Given the description of an element on the screen output the (x, y) to click on. 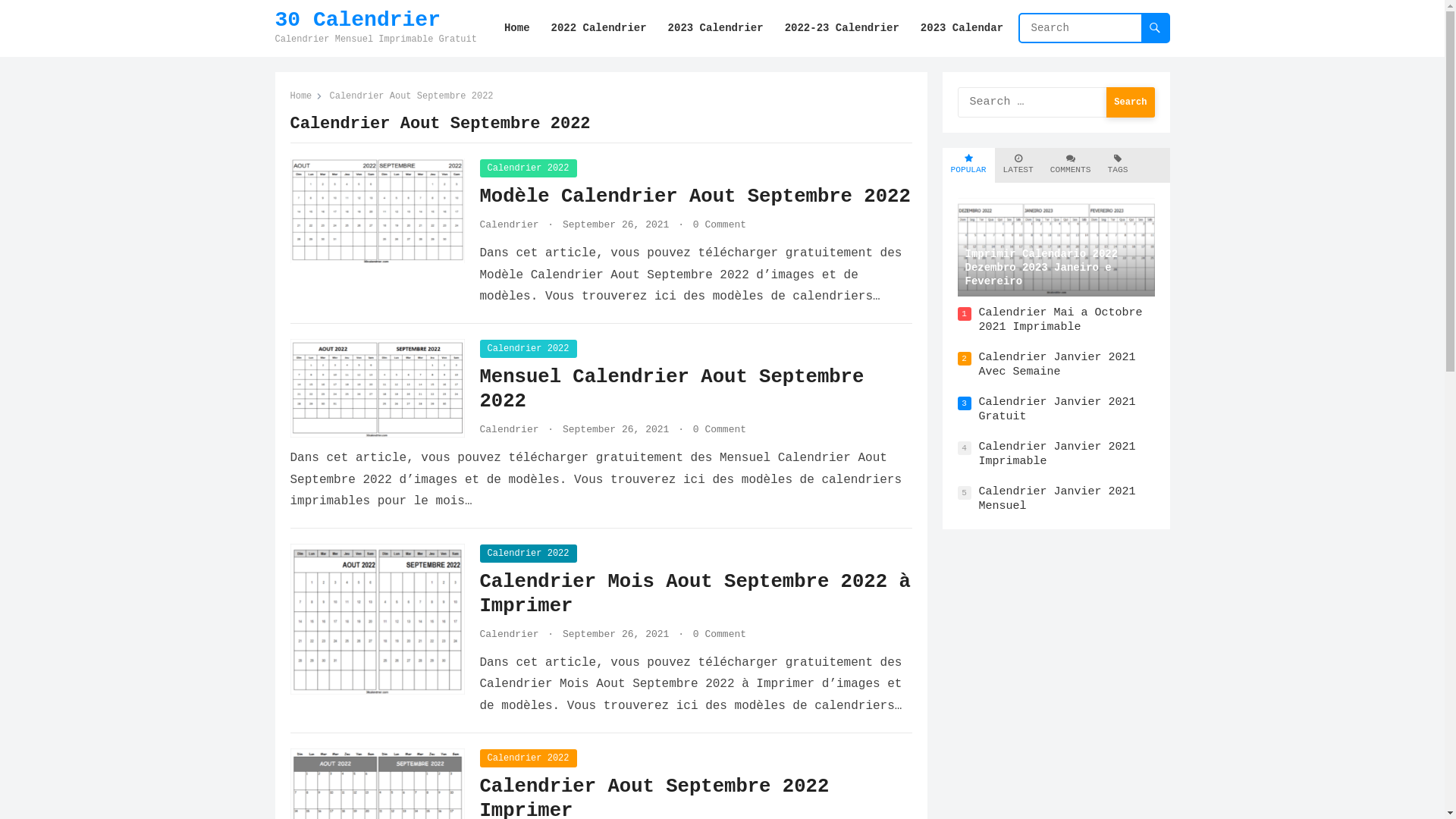
30 Calendrier Element type: text (375, 20)
2022 Calendrier Element type: text (598, 28)
Calendrier 2022 Element type: text (527, 168)
0 Comment Element type: text (719, 634)
Imprimir Calendario 2022 Dezembro 2023 Janeiro e Fevereiro Element type: text (1055, 246)
Calendrier 2022 Element type: text (527, 553)
Calendrier Janvier 2021 Imprimable Element type: text (1056, 454)
Mensuel Calendrier Aout Septembre 2022 Element type: text (671, 389)
Calendrier Element type: text (508, 634)
Calendrier Janvier 2021 Mensuel Element type: text (1056, 499)
2022-23 Calendrier Element type: text (841, 28)
LATEST Element type: text (1017, 164)
COMMENTS Element type: text (1070, 164)
0 Comment Element type: text (719, 224)
Calendrier Janvier 2021 Gratuit Element type: text (1056, 409)
Calendrier Element type: text (508, 429)
2023 Calendrier Element type: text (715, 28)
0 Comment Element type: text (719, 429)
TAGS Element type: text (1117, 164)
Calendrier Janvier 2021 Avec Semaine Element type: text (1056, 365)
POPULAR Element type: text (968, 164)
Calendrier Element type: text (508, 224)
Calendrier Mai a Octobre 2021 Imprimable Element type: text (1060, 320)
Calendrier 2022 Element type: text (527, 758)
Calendrier 2022 Element type: text (527, 348)
Search Element type: text (1130, 102)
Home Element type: text (305, 96)
Home Element type: text (517, 28)
2023 Calendar Element type: text (961, 28)
